Given the description of an element on the screen output the (x, y) to click on. 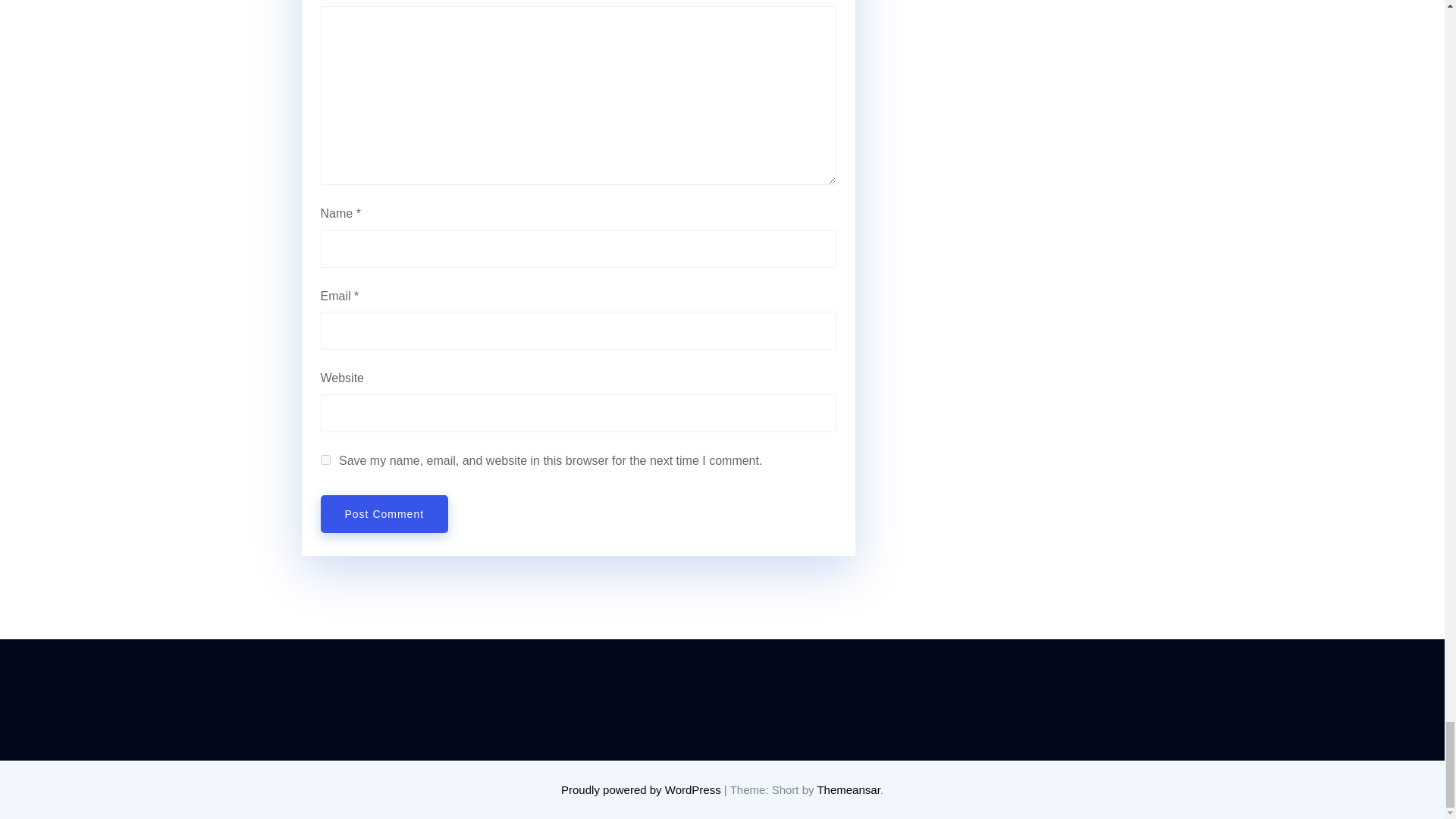
Themeansar (847, 789)
Post Comment (384, 514)
Post Comment (384, 514)
yes (325, 460)
Proudly powered by WordPress (641, 789)
